Given the description of an element on the screen output the (x, y) to click on. 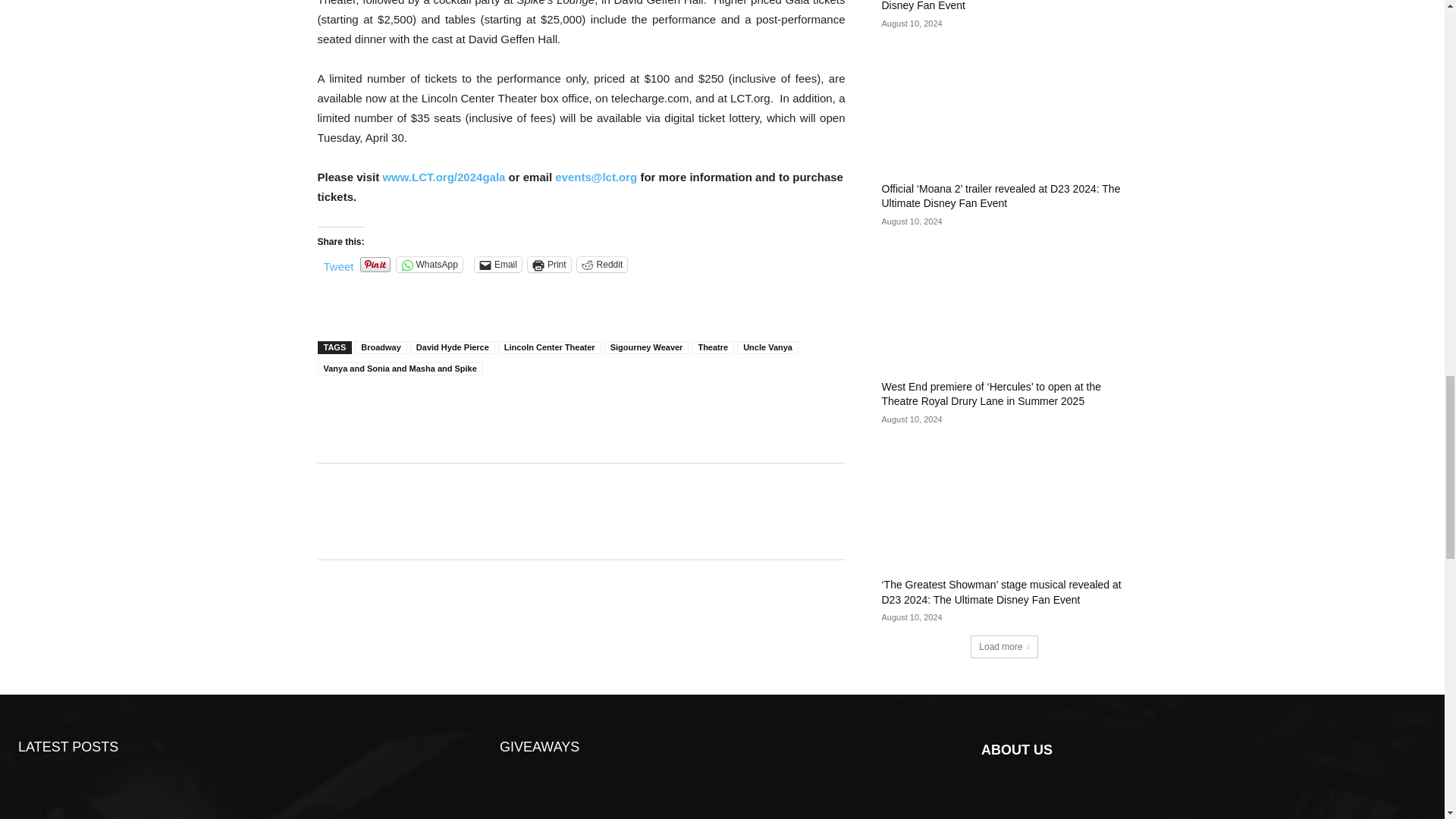
Click to email a link to a friend (497, 264)
Click to share on Reddit (601, 264)
Click to print (548, 264)
Click to share on WhatsApp (429, 264)
